Given the description of an element on the screen output the (x, y) to click on. 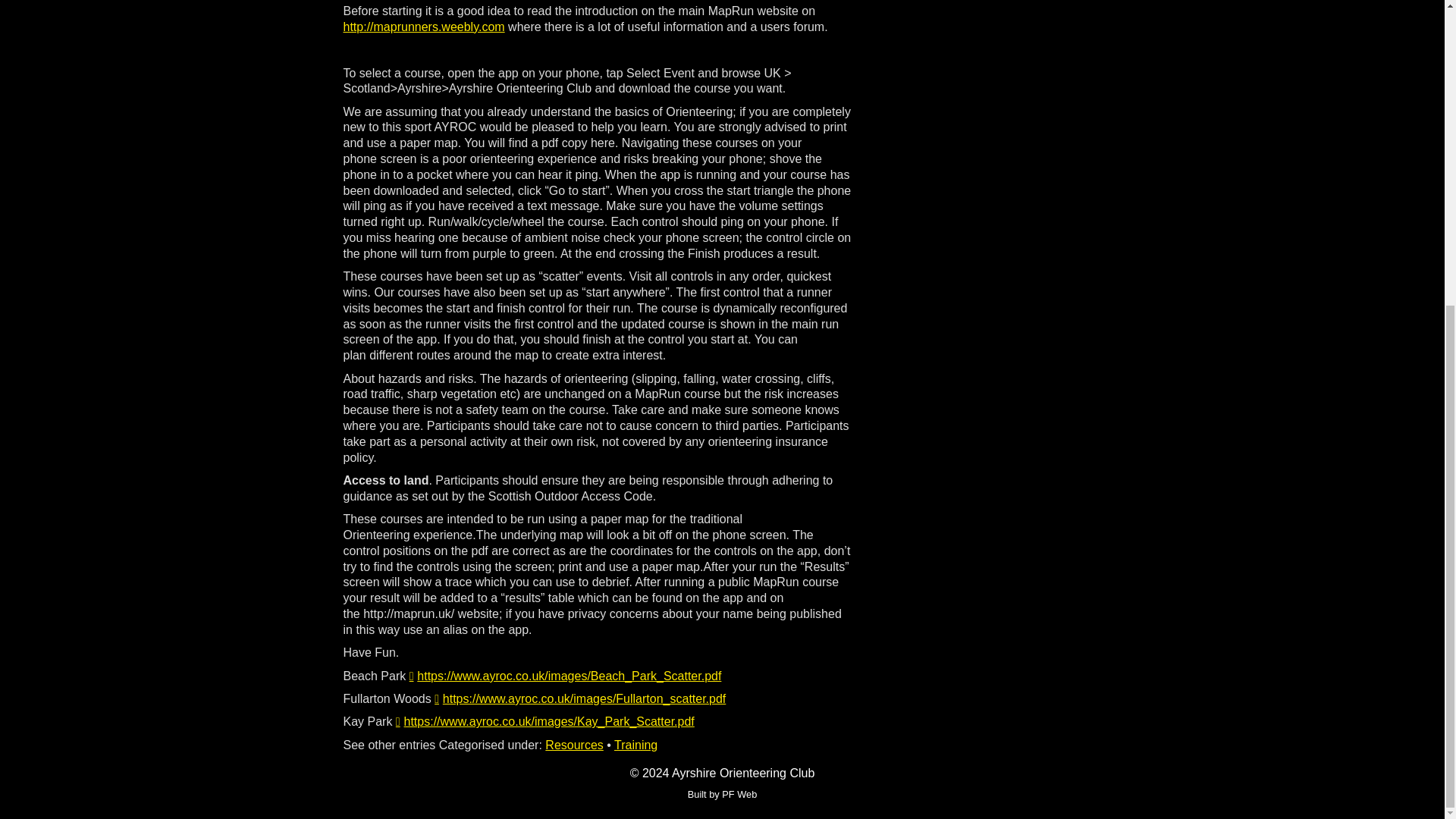
Built by PF Web (722, 794)
Resources (573, 744)
Training (636, 744)
